Given the description of an element on the screen output the (x, y) to click on. 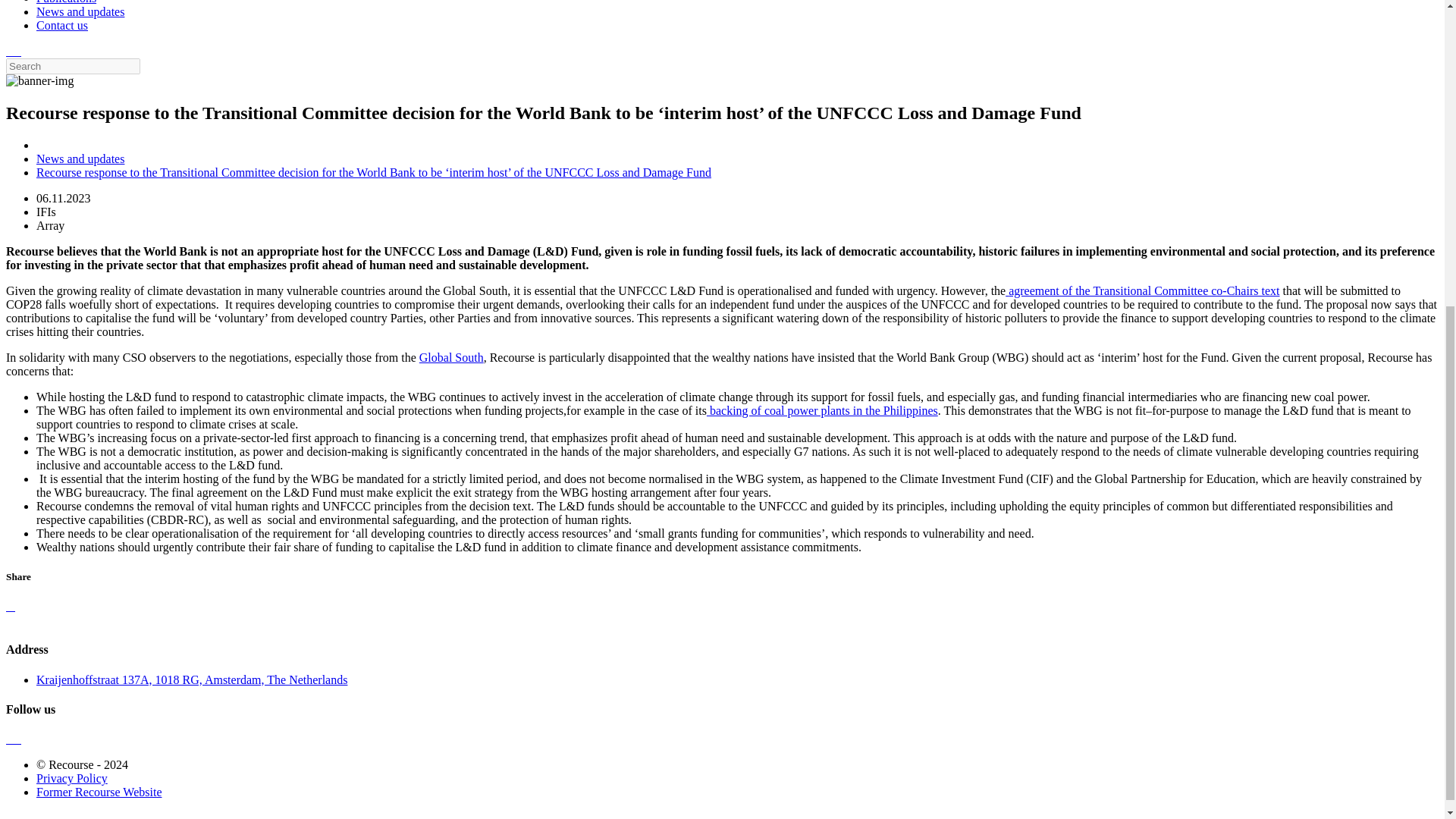
Publications (66, 2)
News and updates (79, 158)
News and updates (79, 11)
Contact us (61, 24)
